Given the description of an element on the screen output the (x, y) to click on. 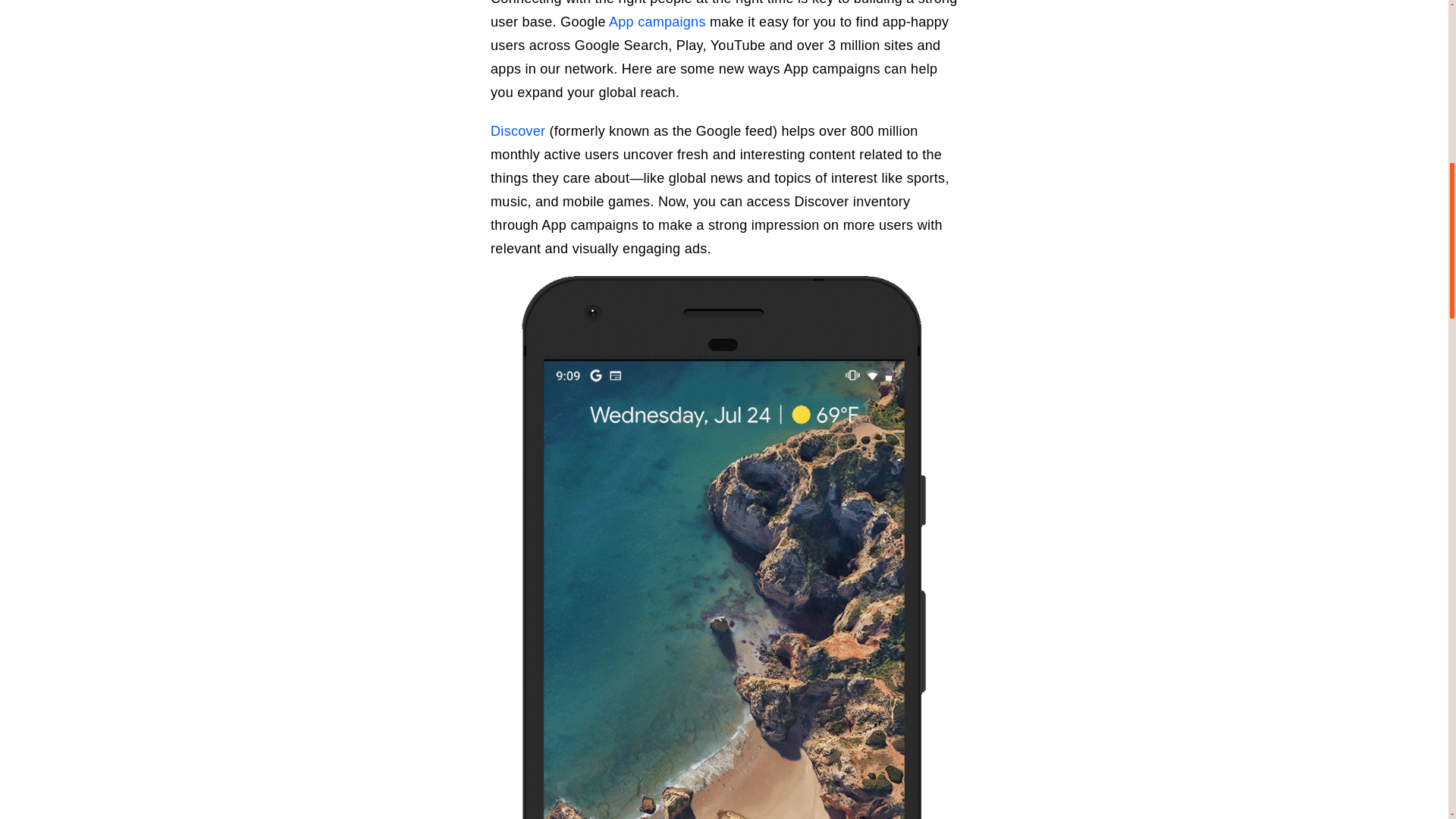
Discover (517, 130)
App campaigns (657, 21)
